Given the description of an element on the screen output the (x, y) to click on. 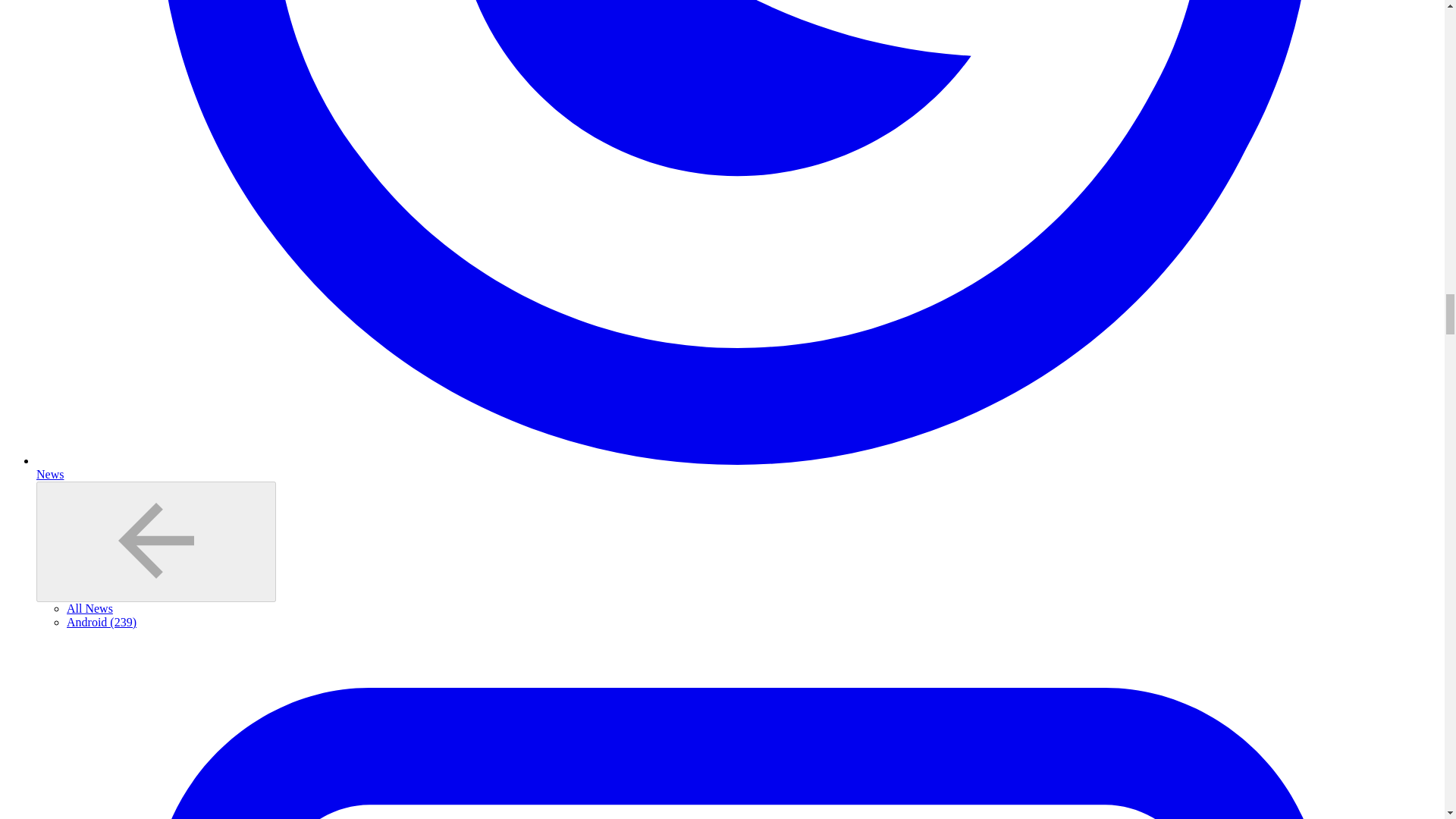
All News (89, 608)
